Given the description of an element on the screen output the (x, y) to click on. 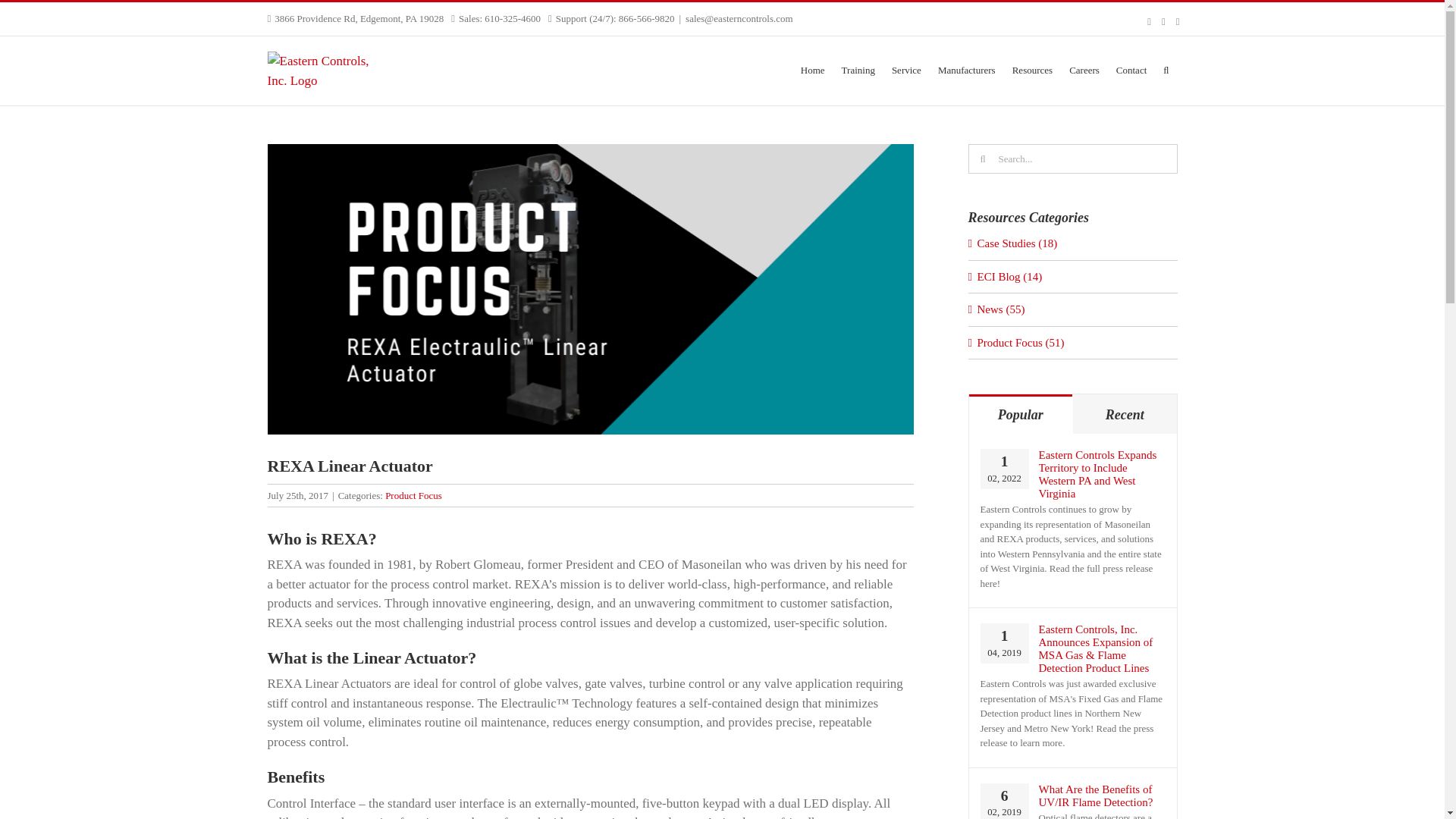
Product Focus (413, 495)
3866 Providence Rd, Edgemont, PA 19028 (359, 18)
Sales: 610-325-4600 (499, 18)
Manufacturers (966, 68)
